Given the description of an element on the screen output the (x, y) to click on. 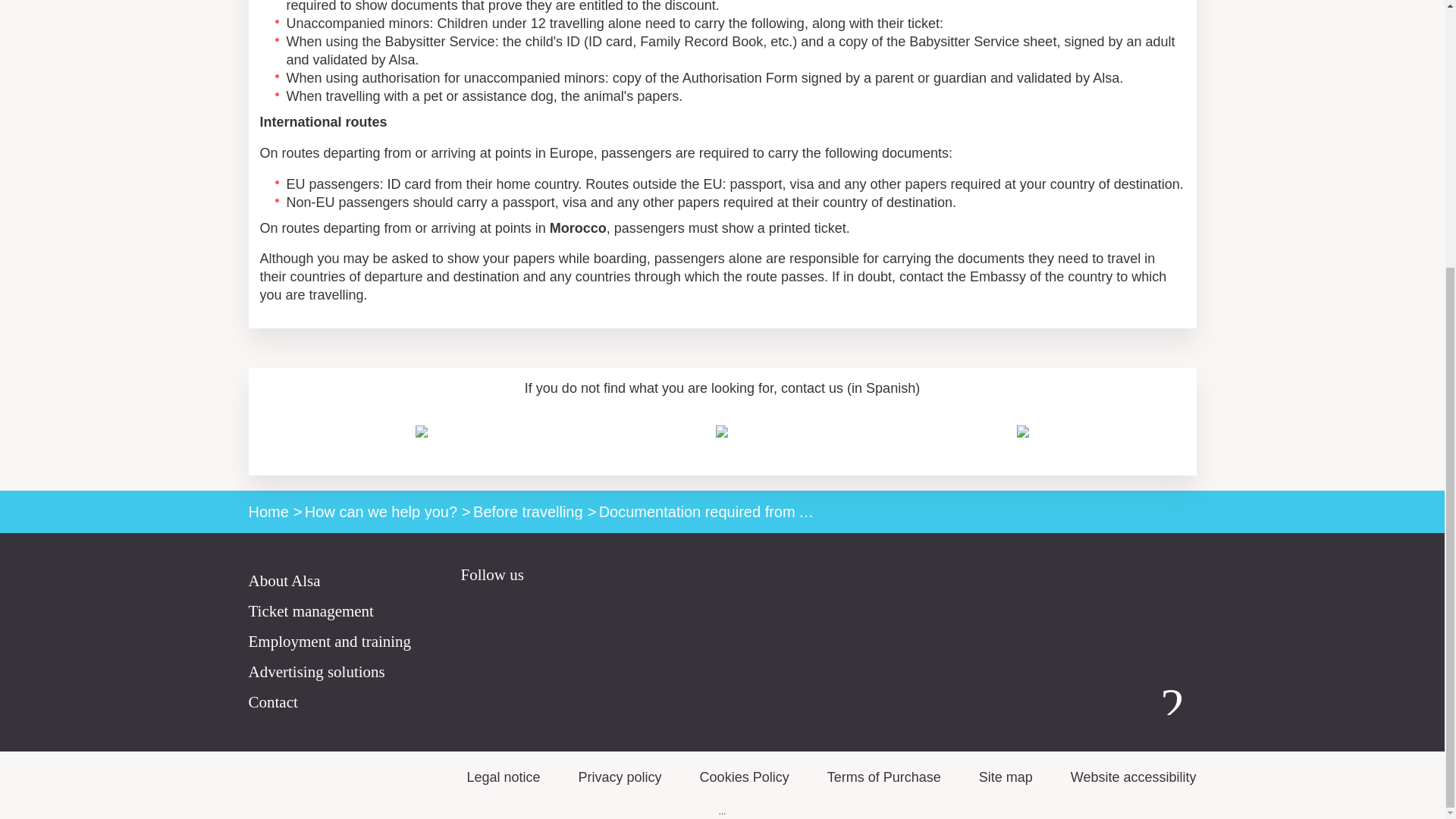
How can we  help you? (380, 511)
Share (1184, 355)
Logo Alsa, ir a inicio (1172, 700)
Before travelling (528, 511)
Home (268, 511)
